Given the description of an element on the screen output the (x, y) to click on. 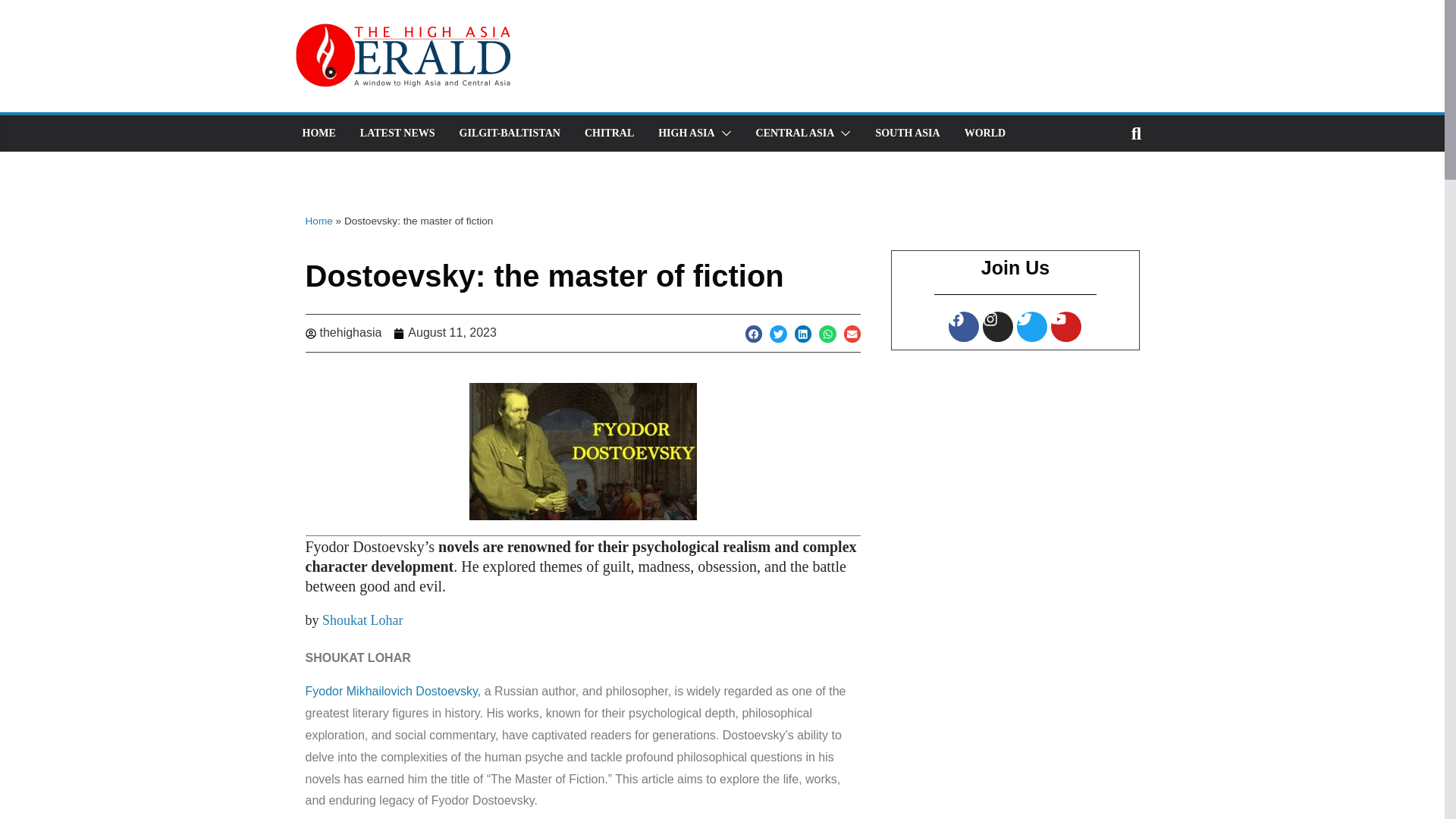
Home (317, 220)
Shoukat Lohar (362, 620)
HIGH ASIA (686, 133)
WORLD (984, 133)
GILGIT-BALTISTAN (510, 133)
LATEST NEWS (397, 133)
Fyodor Mikhailovich Dostoevsky, (392, 690)
thehighasia (342, 332)
CHITRAL (609, 133)
SOUTH ASIA (907, 133)
